Given the description of an element on the screen output the (x, y) to click on. 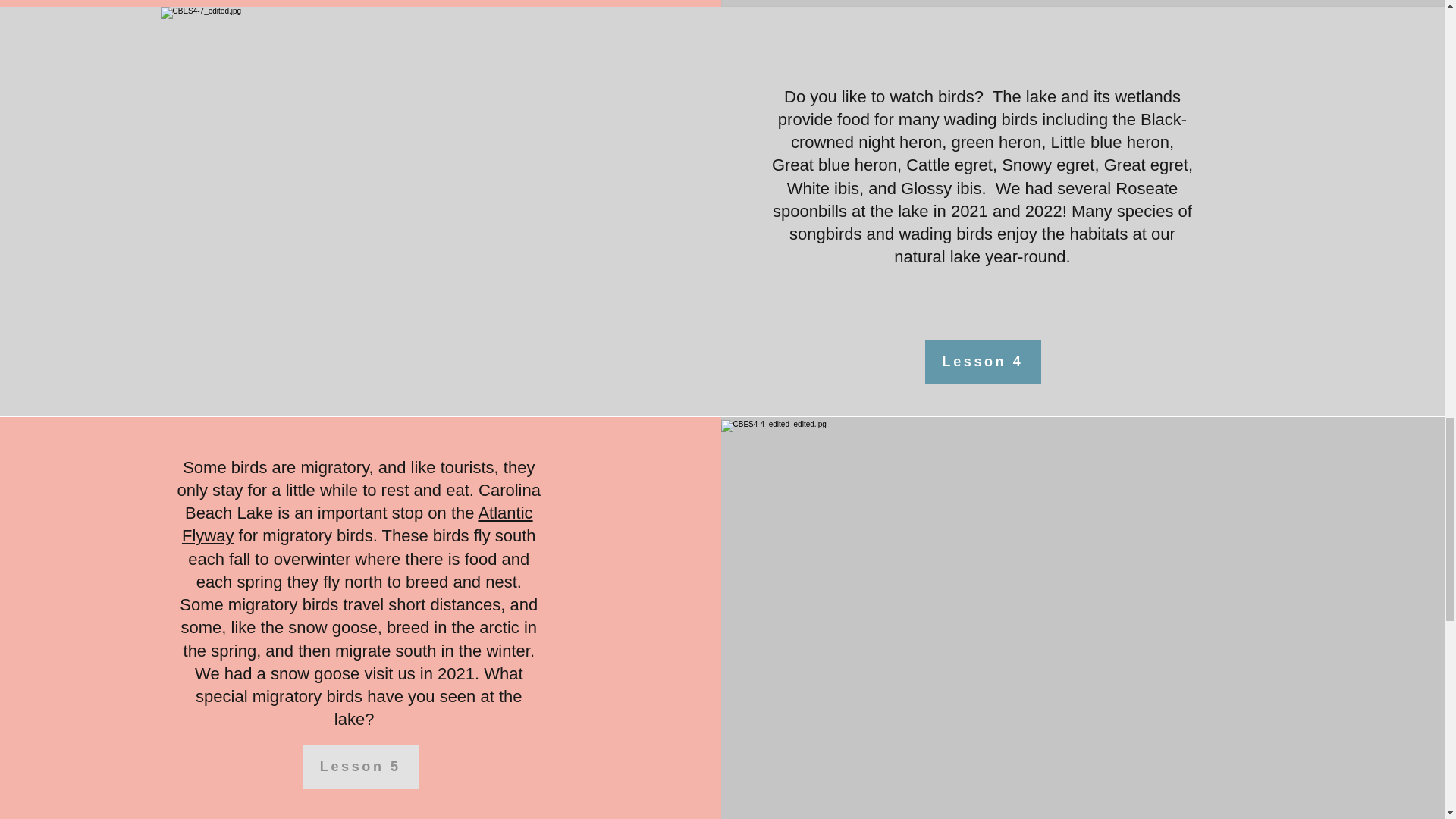
Lesson 5 (360, 767)
Lesson 4 (982, 362)
Atlantic Flyway (357, 524)
